Given the description of an element on the screen output the (x, y) to click on. 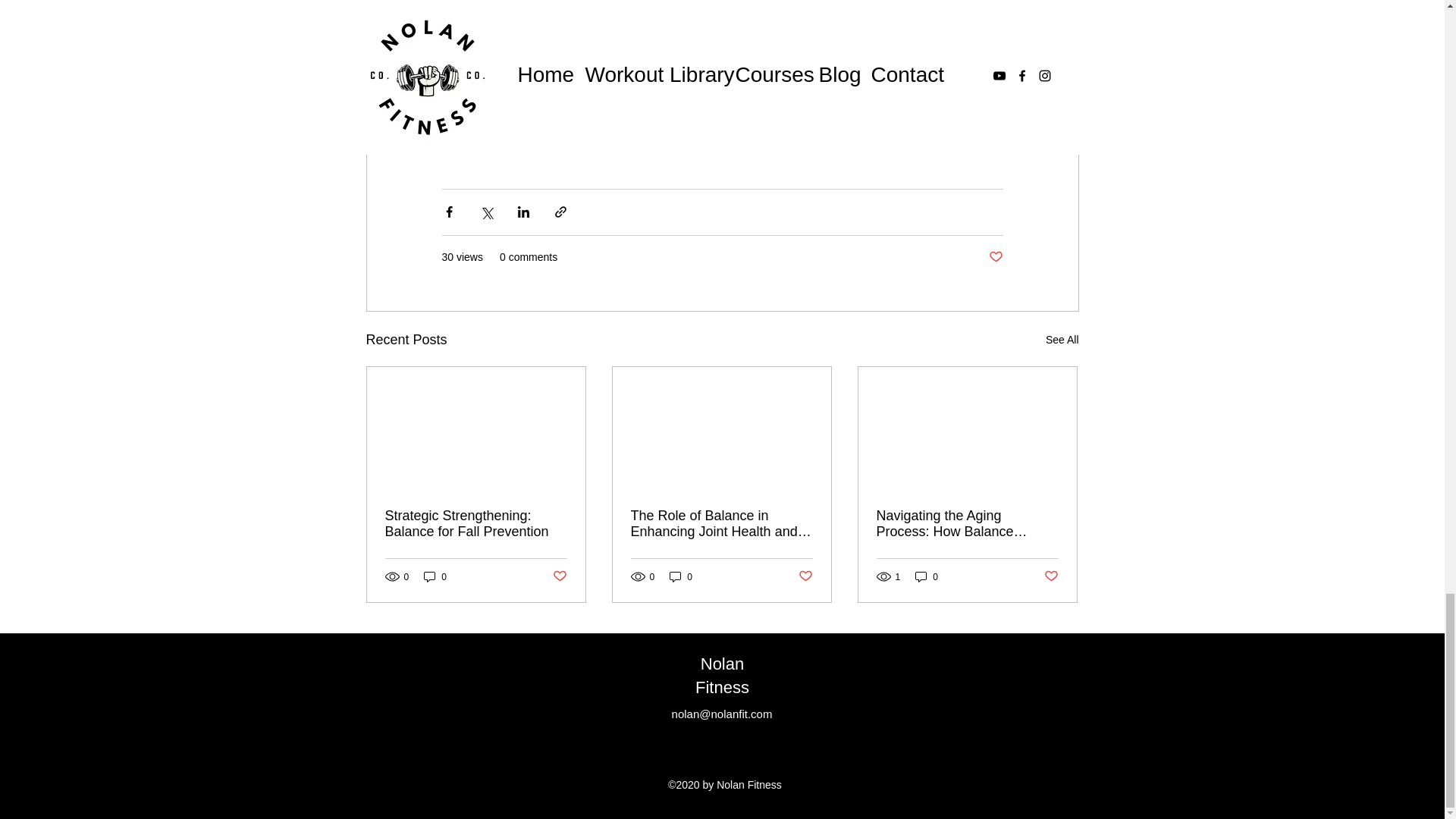
Post not marked as liked (995, 257)
Strategic Strengthening: Balance for Fall Prevention (476, 523)
Post not marked as liked (804, 576)
0 (681, 576)
Post not marked as liked (558, 576)
0 (435, 576)
See All (1061, 340)
The Role of Balance in Enhancing Joint Health and Mobility (721, 523)
